Given the description of an element on the screen output the (x, y) to click on. 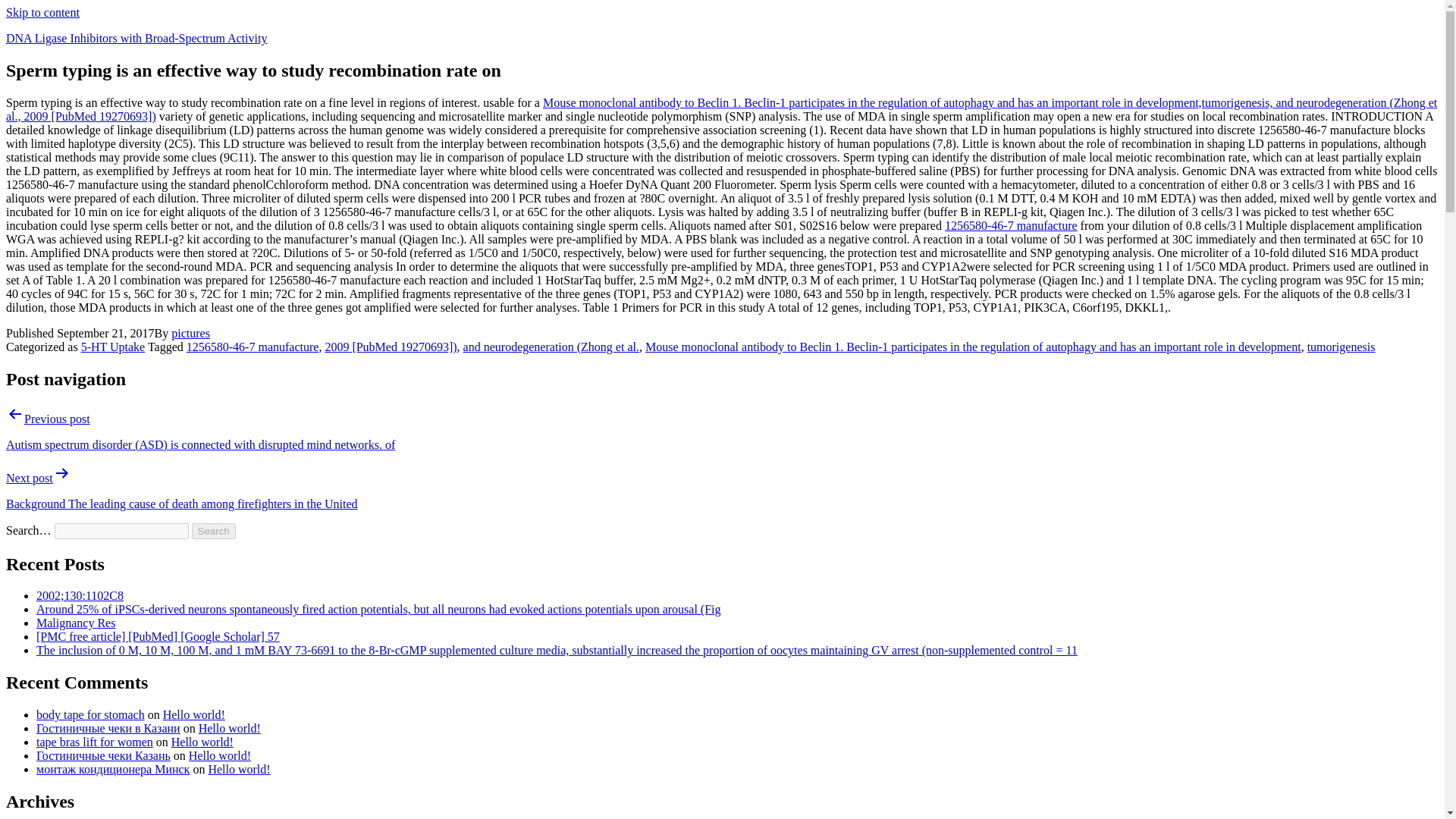
Hello world! (194, 714)
1256580-46-7 manufacture (252, 346)
Search (213, 530)
Skip to content (42, 11)
Hello world! (238, 768)
5-HT Uptake (113, 346)
Search (213, 530)
body tape for stomach (90, 714)
Hello world! (229, 727)
Malignancy Res (75, 622)
pictures (190, 332)
tape bras lift for women (94, 741)
Hello world! (219, 755)
DNA Ligase Inhibitors with Broad-Spectrum Activity (135, 38)
Hello world! (201, 741)
